Given the description of an element on the screen output the (x, y) to click on. 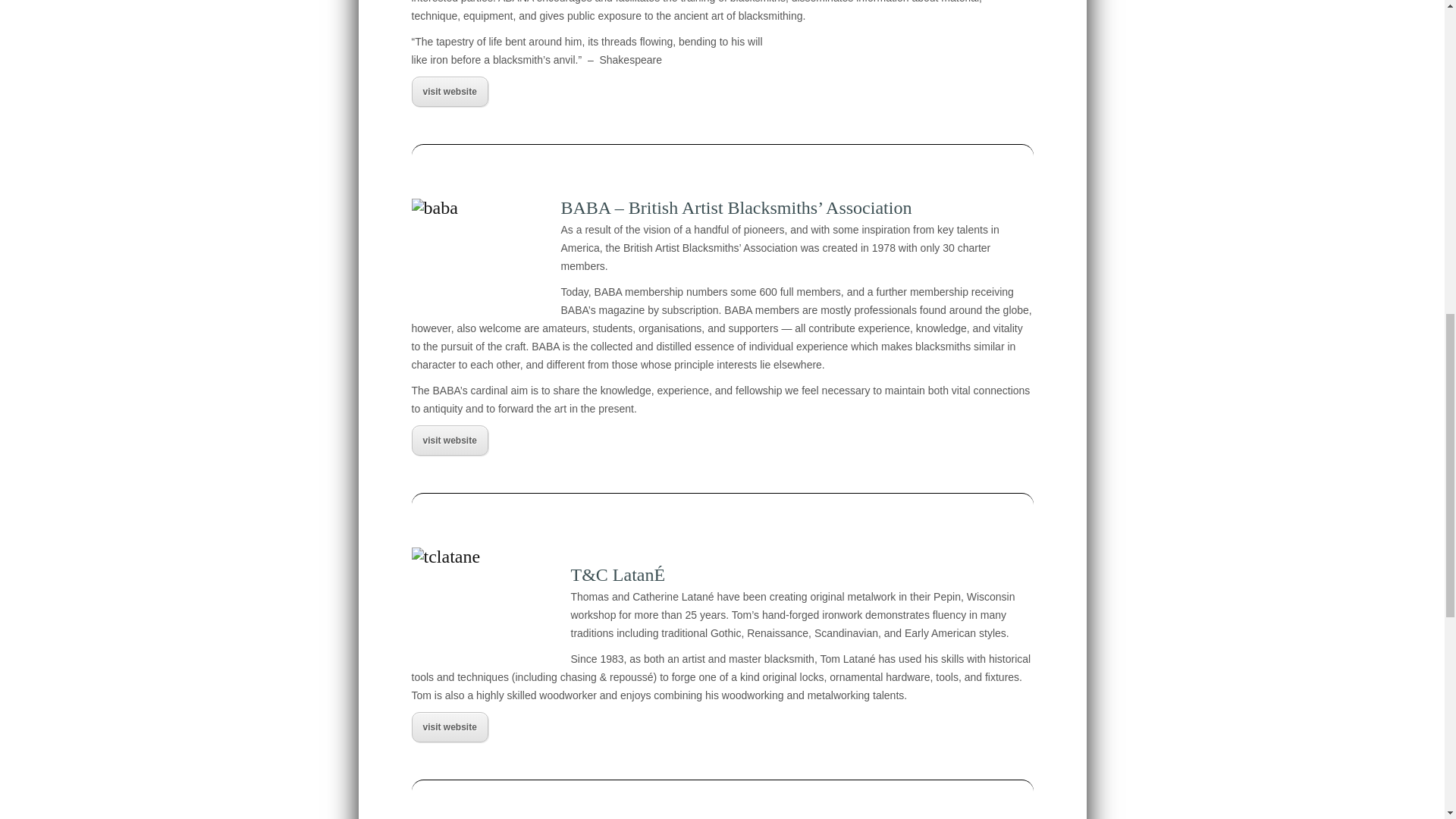
visit website (448, 726)
visit website (448, 440)
visit website (448, 91)
